Given the description of an element on the screen output the (x, y) to click on. 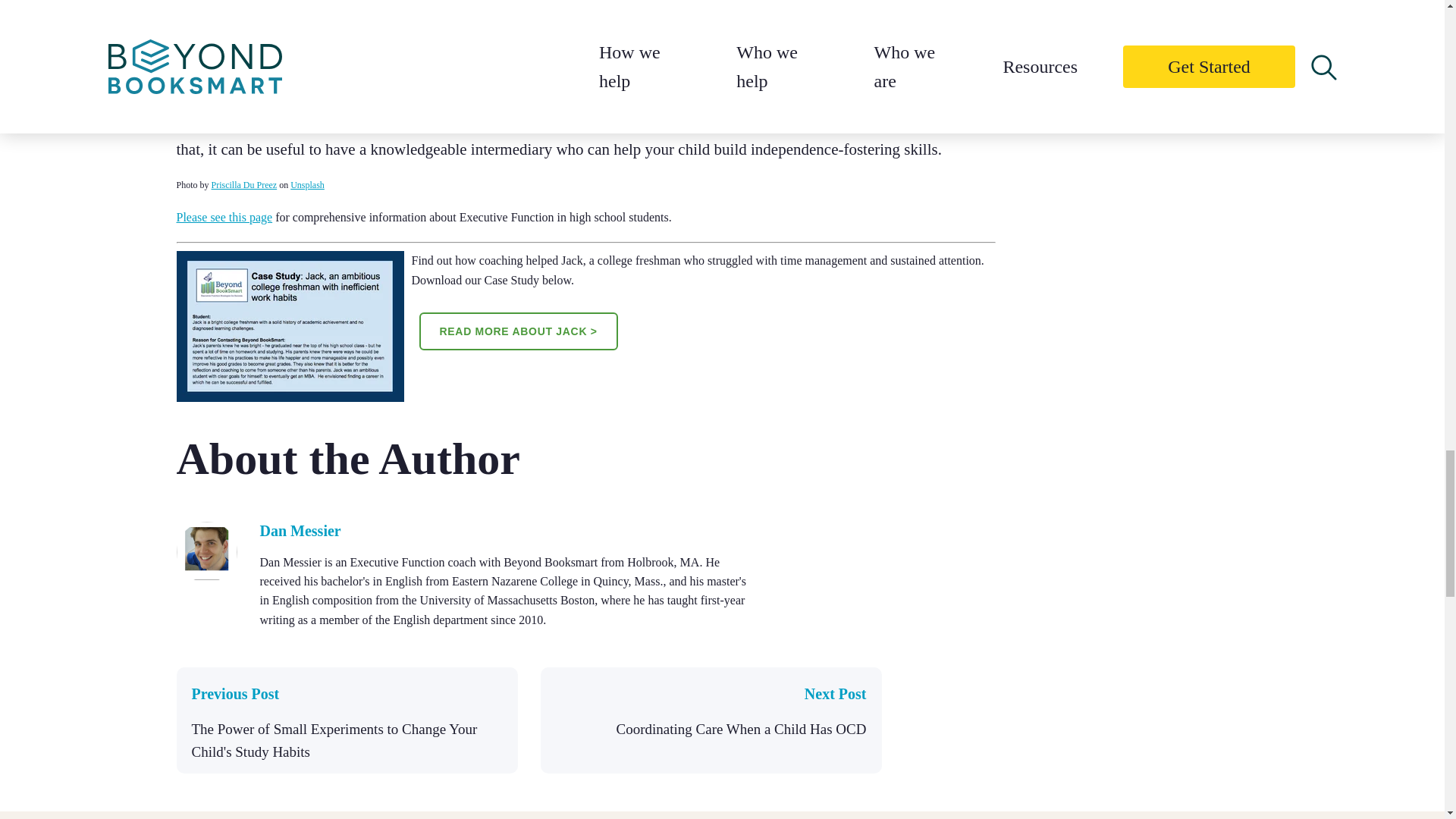
Please see this page (224, 216)
Dan Messier (299, 530)
Unsplash (306, 184)
Priscilla Du Preez (244, 184)
Dan Messier (205, 575)
